Given the description of an element on the screen output the (x, y) to click on. 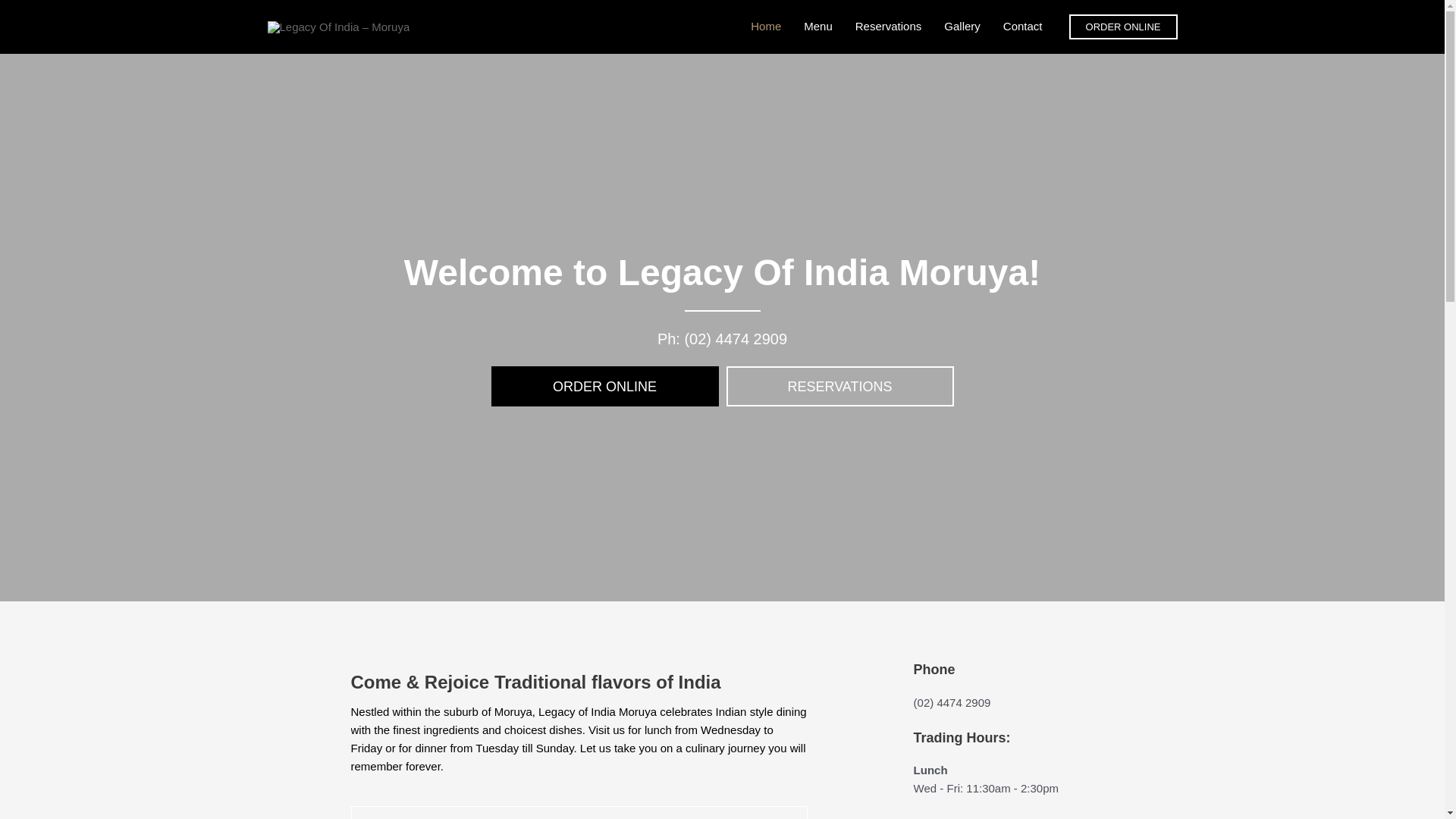
Contact Element type: text (1022, 26)
Home Element type: text (765, 26)
ORDER ONLINE Element type: text (604, 386)
Reservations Element type: text (888, 26)
Menu Element type: text (818, 26)
RESERVATIONS Element type: text (839, 386)
Gallery Element type: text (961, 26)
ORDER ONLINE Element type: text (1123, 25)
